Given the description of an element on the screen output the (x, y) to click on. 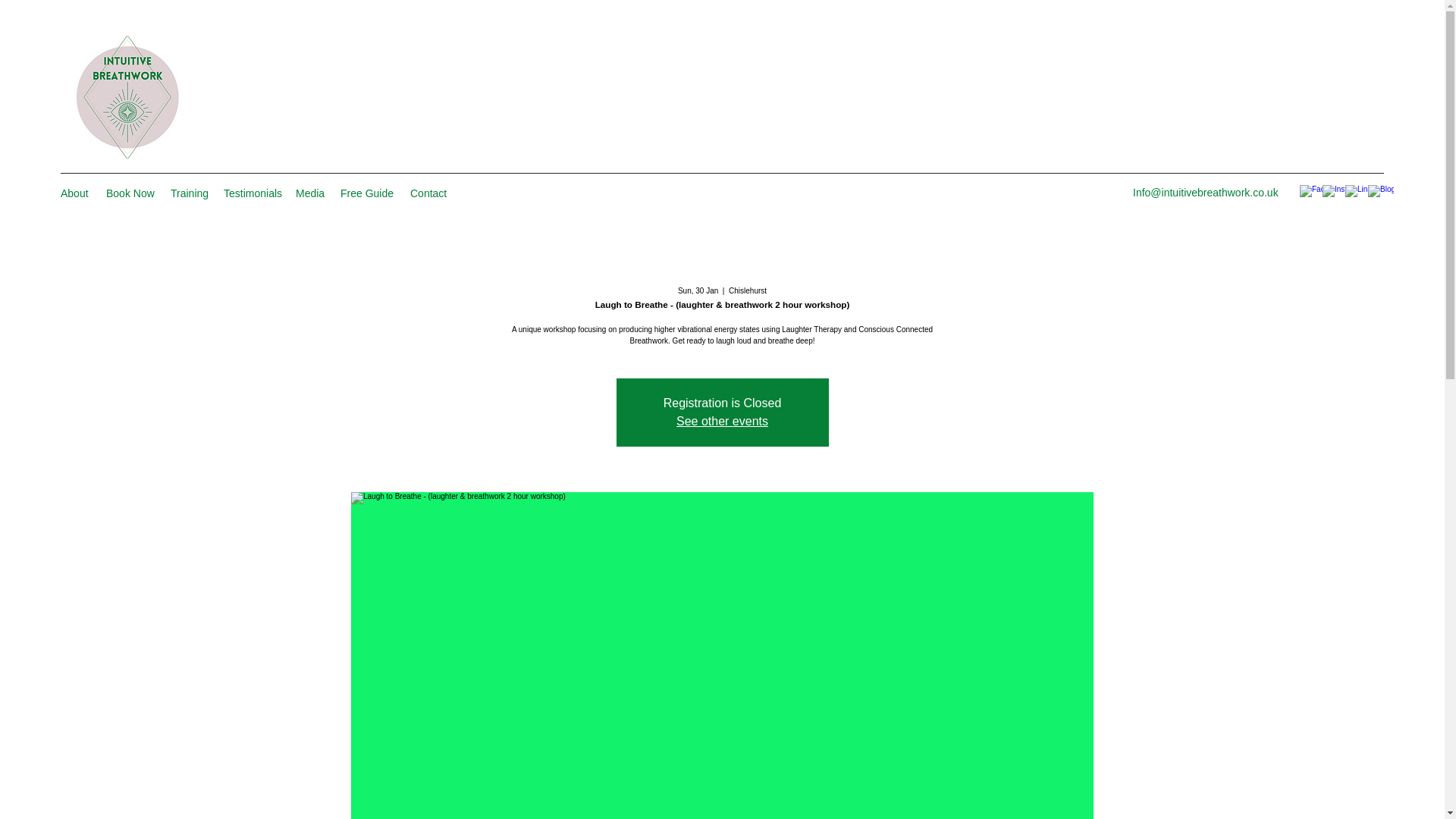
Contact (429, 192)
See other events (722, 420)
Free Guide (368, 192)
